Given the description of an element on the screen output the (x, y) to click on. 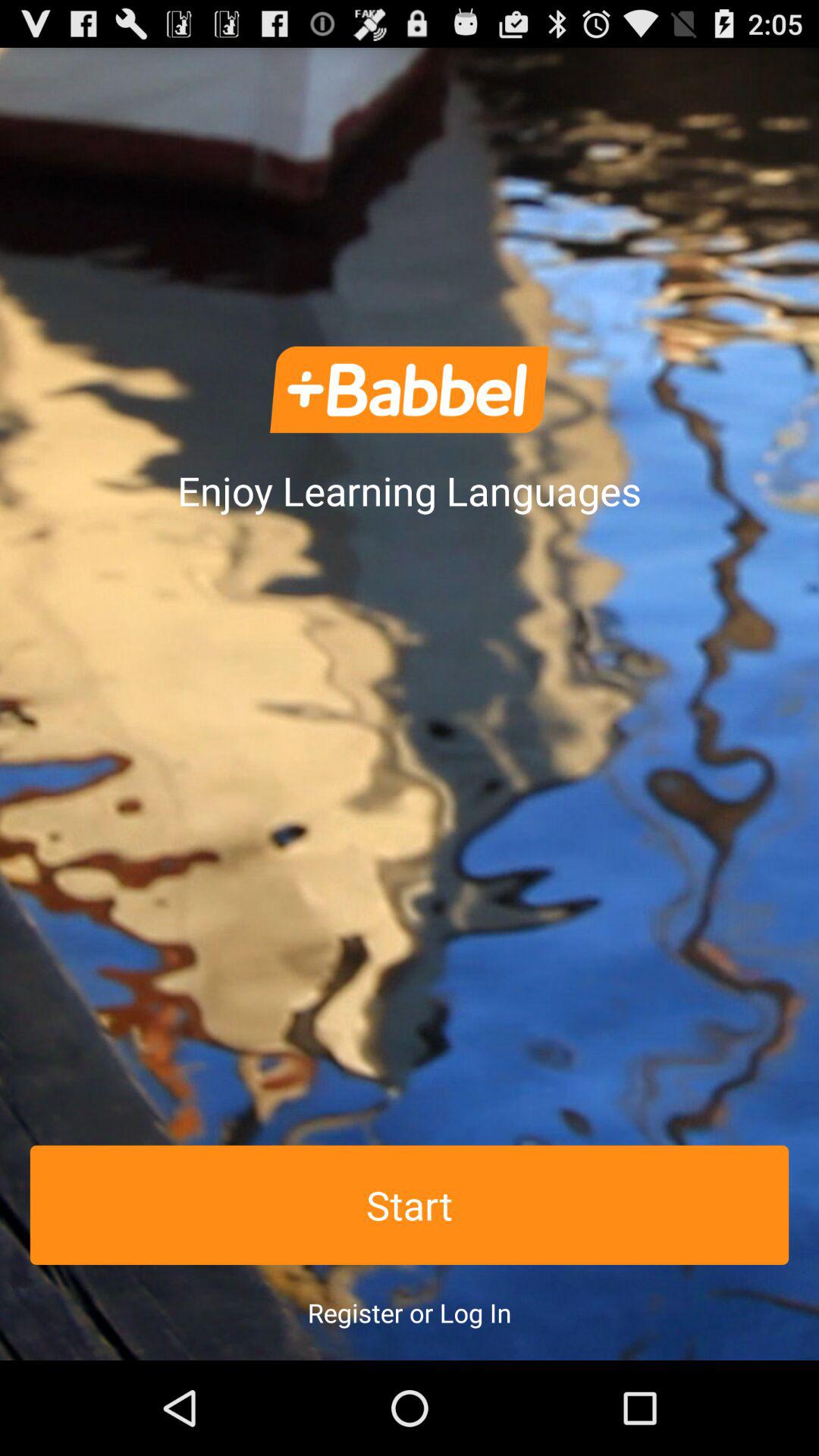
choose the start (409, 1204)
